Given the description of an element on the screen output the (x, y) to click on. 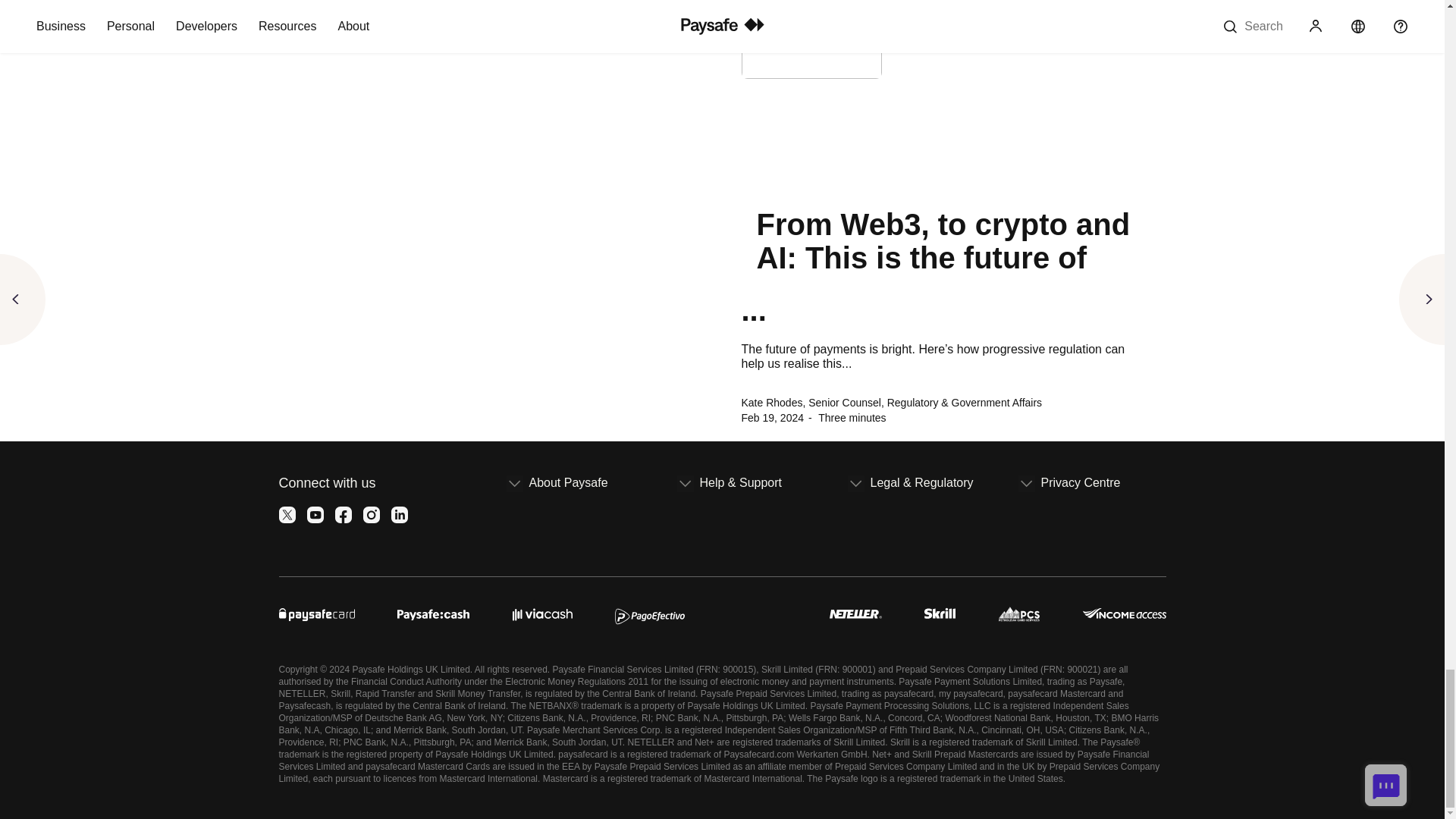
viacash (542, 611)
Paysafecash (432, 611)
From Web3, to crypto and AI: This is the future of payments (946, 48)
From Web3, to crypto and AI: This is the future of payments (946, 131)
Paysafecard (317, 611)
From Web3, to crypto and AI: This is the future of payments (946, 241)
From Web3, to crypto and AI: This is the future of payments (946, 169)
